Given the description of an element on the screen output the (x, y) to click on. 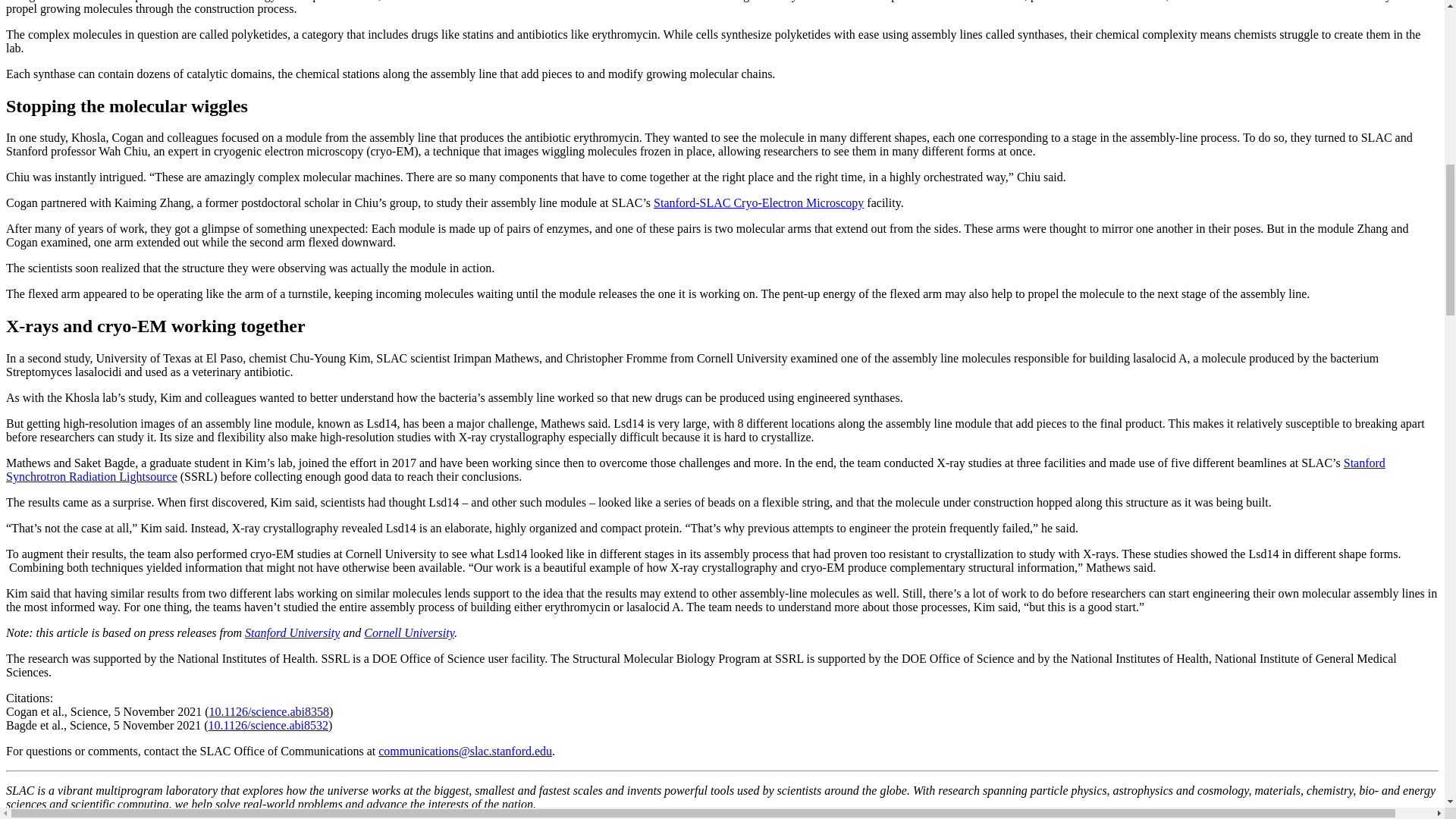
Cornell University (409, 632)
Stanford University (291, 632)
Stanford Synchrotron Radiation Lightsource (695, 469)
Stanford-SLAC Cryo-Electron Microscopy (758, 202)
